Given the description of an element on the screen output the (x, y) to click on. 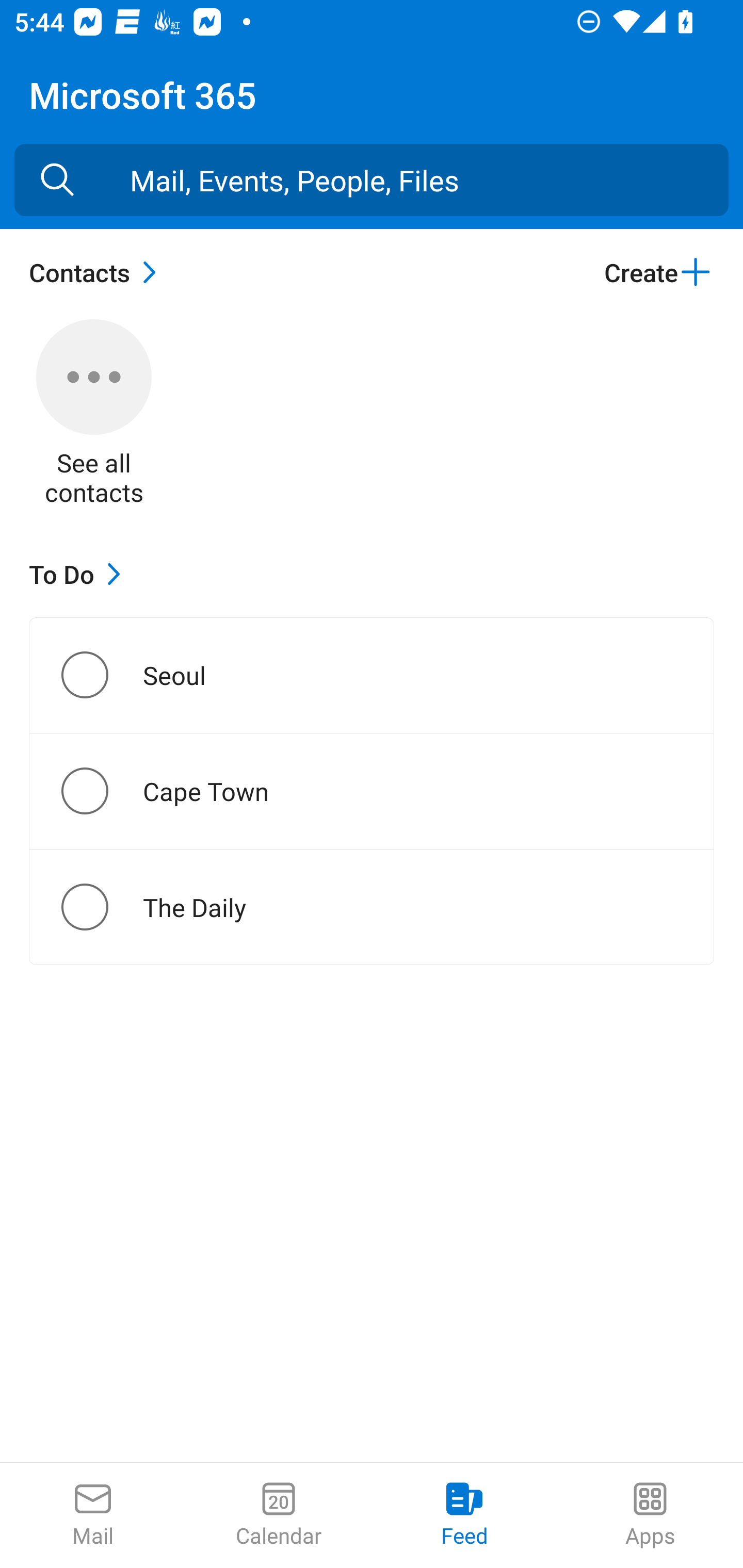
Search for Mail, Events, People, Files (57, 180)
Contacts (97, 271)
Create Create contact (658, 271)
See all contacts (93, 414)
To Do (79, 573)
Seoul Seoul Seoul. not completed (371, 674)
Seoul (101, 674)
Cape Town Cape Town Cape Town. not completed (371, 790)
Cape Town (101, 790)
The Daily The Daily The Daily. not completed (371, 906)
The Daily (101, 906)
Mail (92, 1515)
Calendar (278, 1515)
Apps (650, 1515)
